Given the description of an element on the screen output the (x, y) to click on. 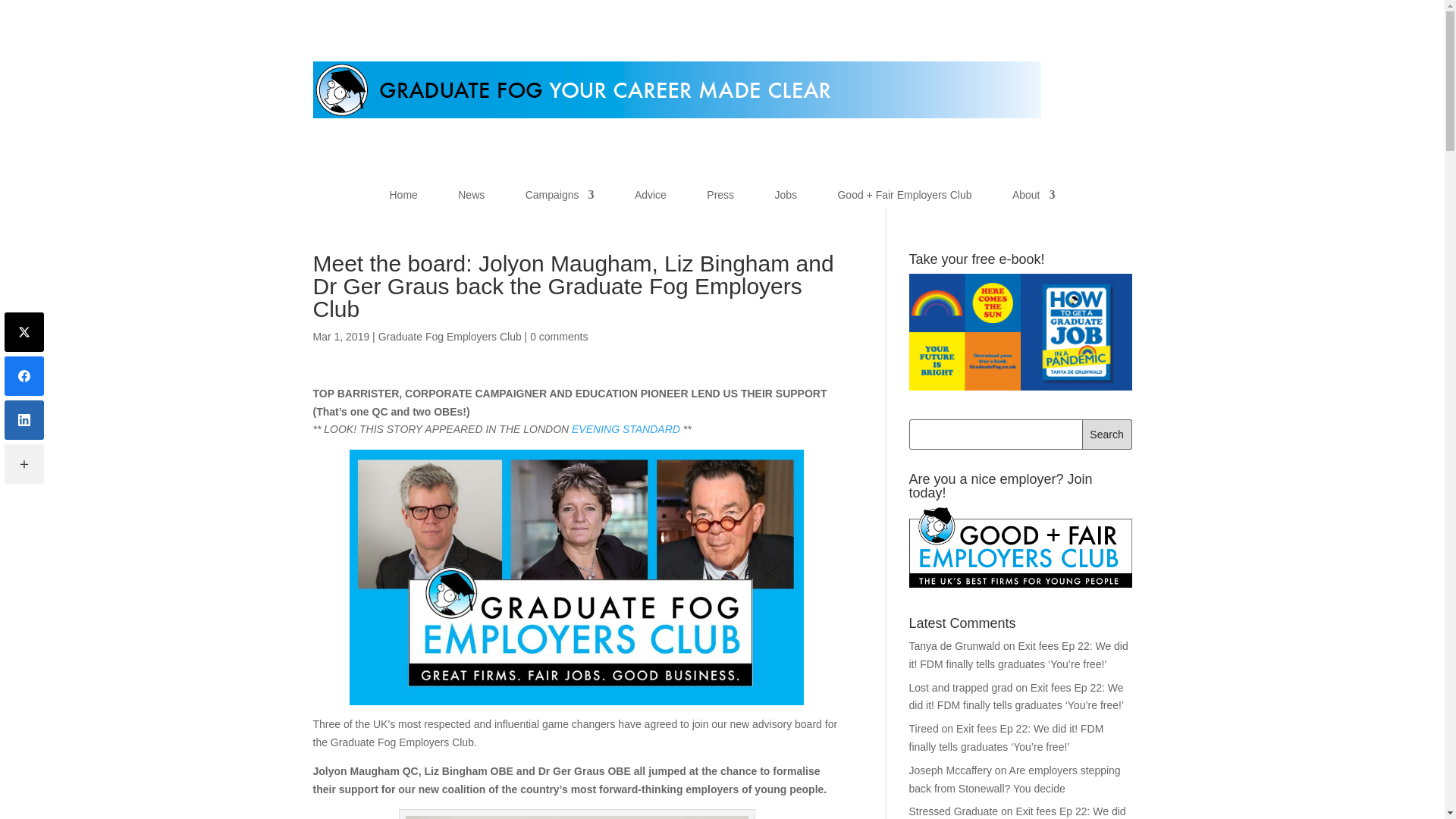
graduatefog (677, 89)
0 comments (558, 336)
Campaigns (559, 198)
Press (719, 198)
Graduate Fog Employers Club (449, 336)
About (1033, 198)
Jobs (785, 198)
Are employers stepping back from Stonewall? You decide (1013, 779)
Search (1106, 434)
News (471, 198)
